Given the description of an element on the screen output the (x, y) to click on. 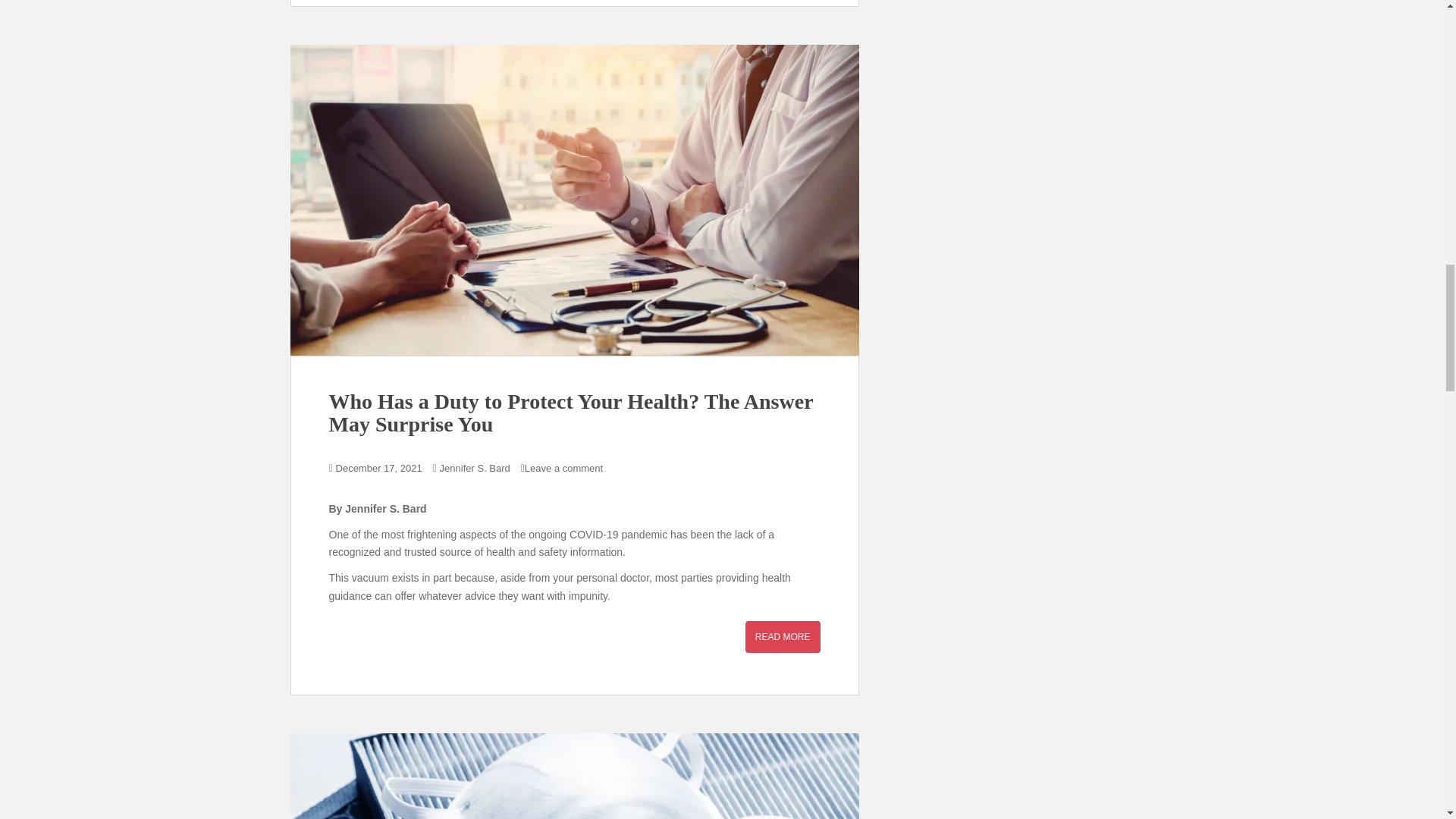
Leave a comment (563, 468)
READ MORE (783, 636)
Being an Adult in the Face of Omicron (574, 776)
December 17, 2021 (379, 468)
Jennifer S. Bard (475, 468)
